Given the description of an element on the screen output the (x, y) to click on. 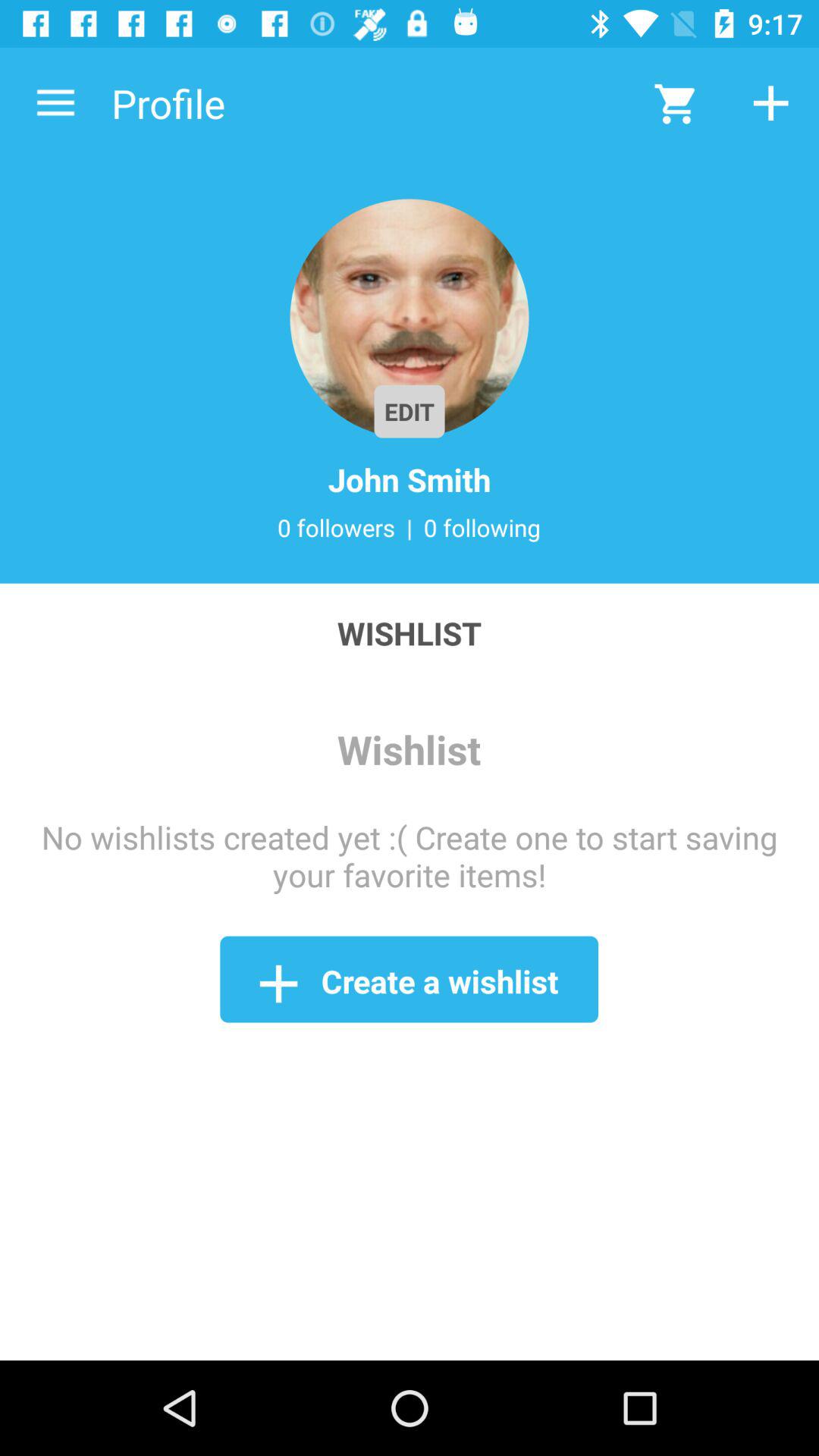
choose no wishlists created (409, 855)
